Given the description of an element on the screen output the (x, y) to click on. 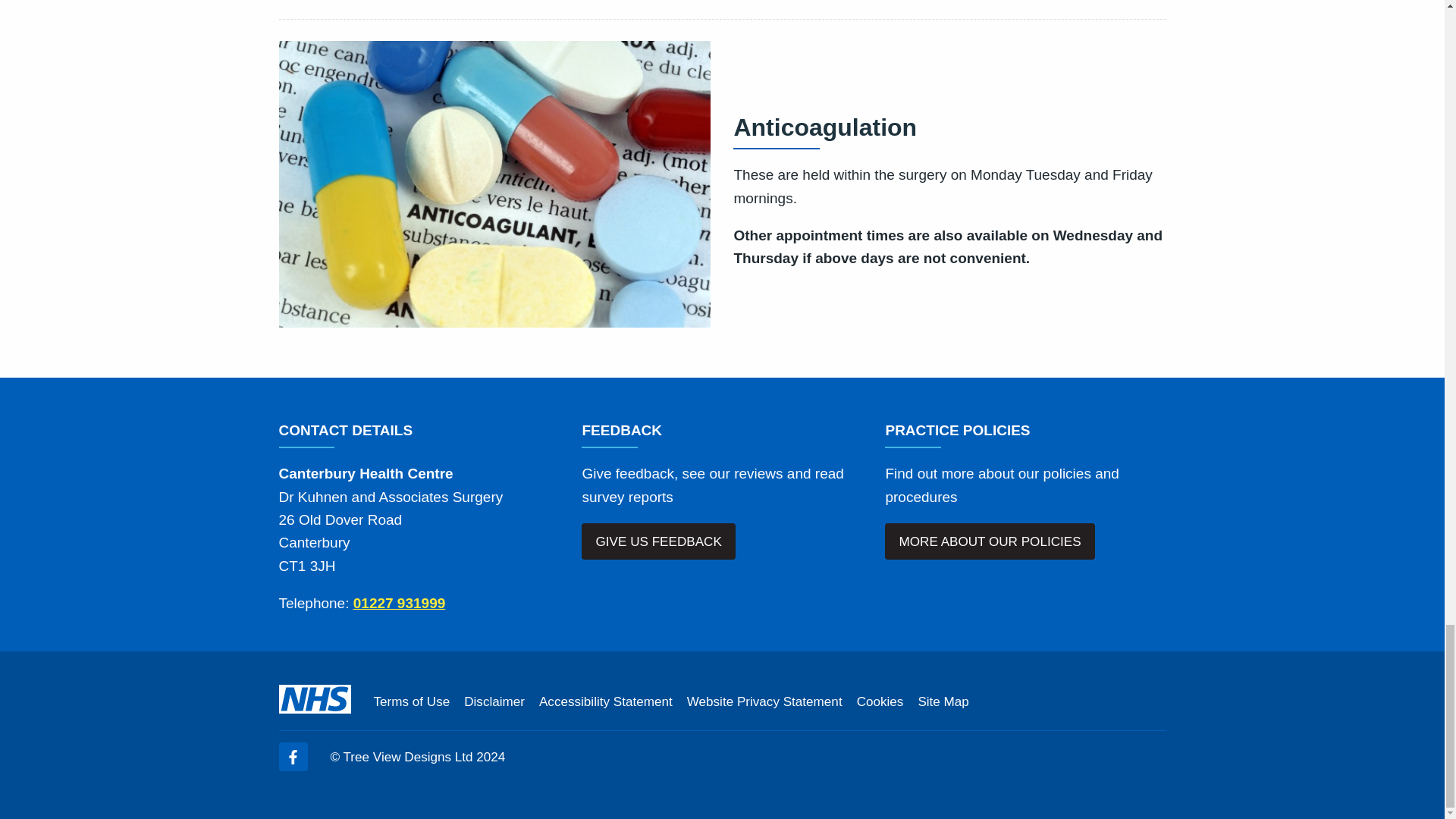
Website Privacy Statement (765, 701)
Cookies (880, 701)
Disclaimer (494, 701)
Site Map (942, 701)
The NHS Logo (314, 698)
Terms of Use (410, 701)
Accessibility Statement (605, 701)
GIVE US FEEDBACK (657, 541)
Tree View Designs Ltd (408, 757)
01227 931999 (399, 602)
